Given the description of an element on the screen output the (x, y) to click on. 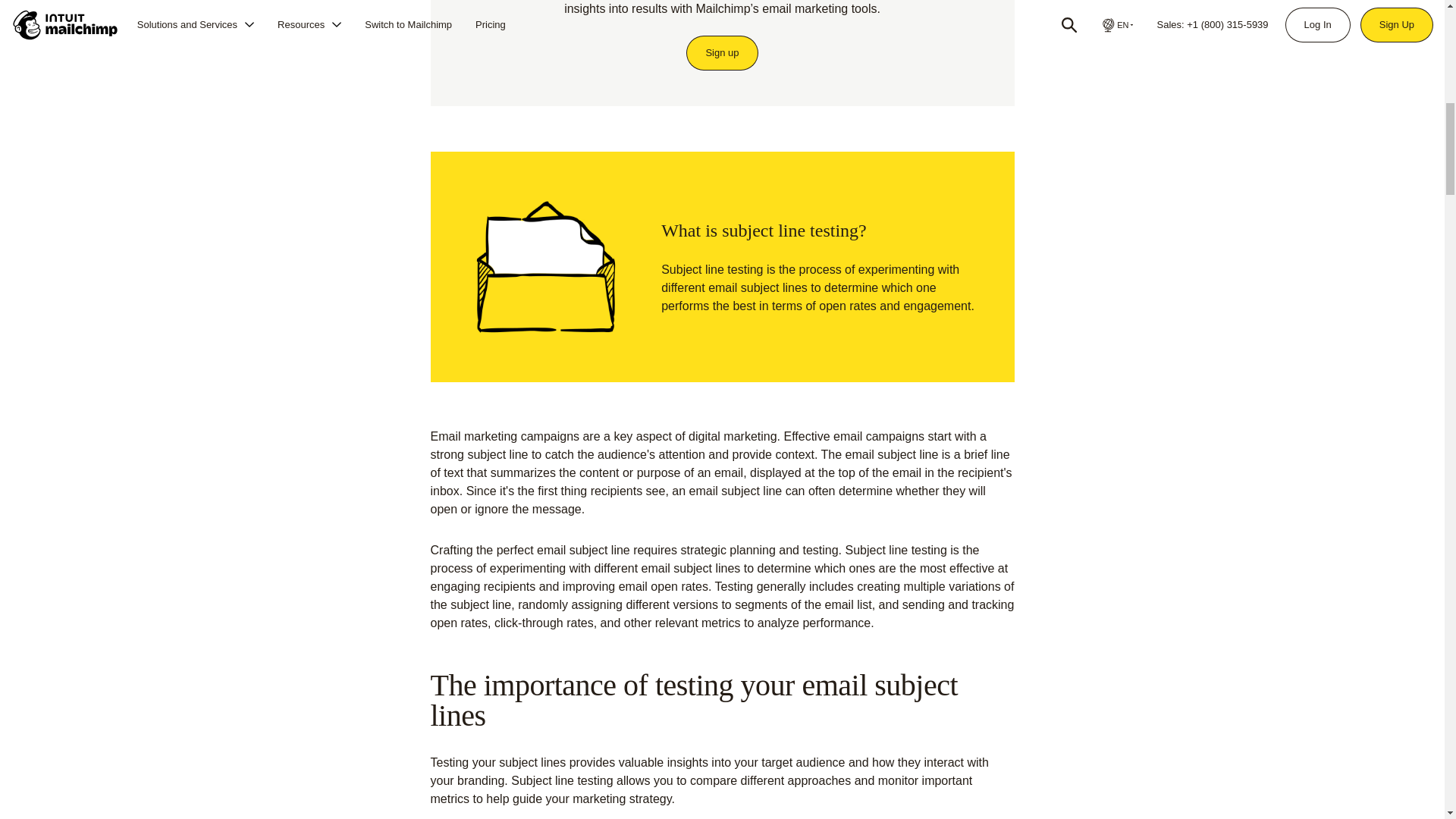
Sign up (722, 52)
